Given the description of an element on the screen output the (x, y) to click on. 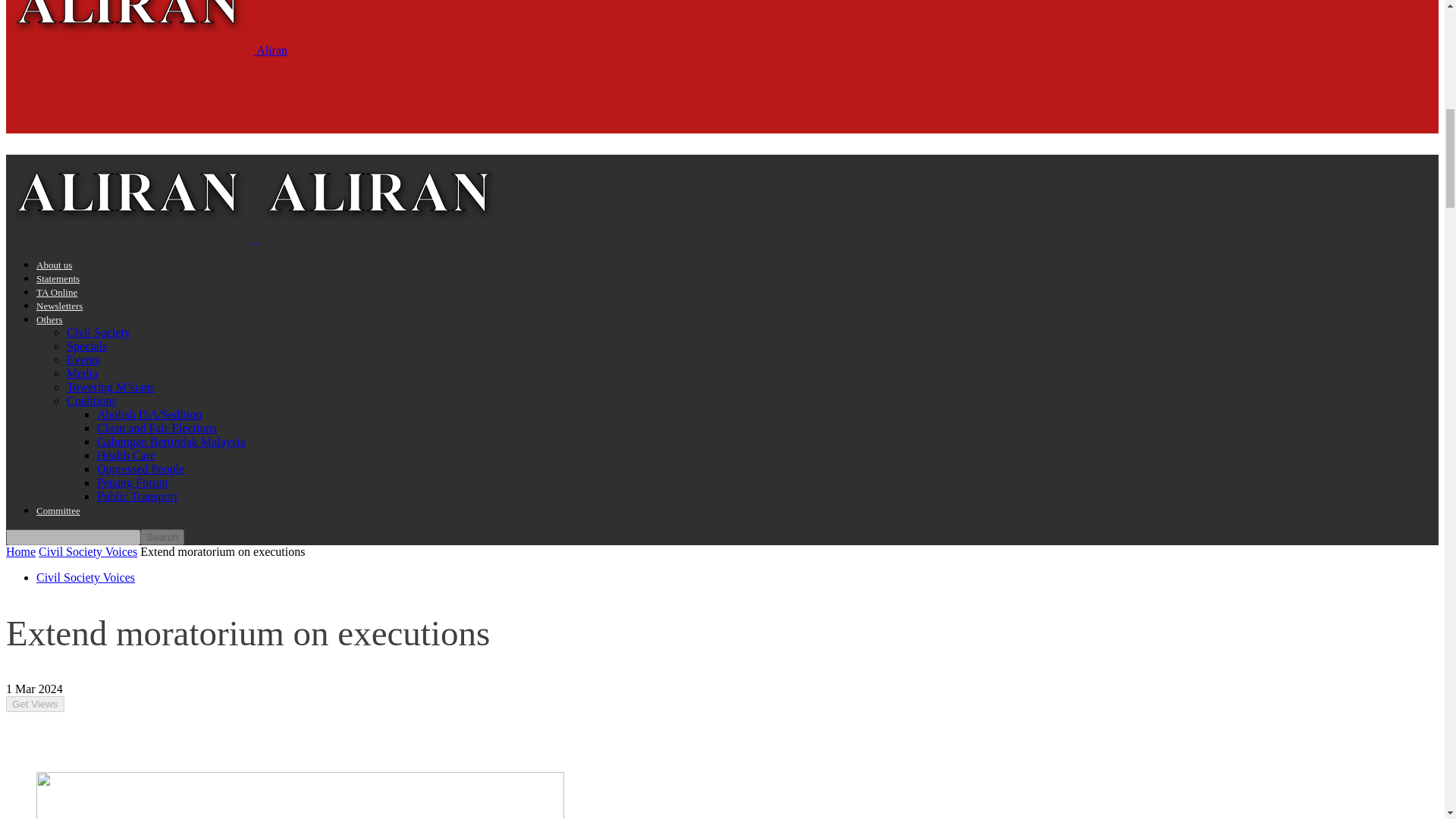
Search (161, 537)
